Given the description of an element on the screen output the (x, y) to click on. 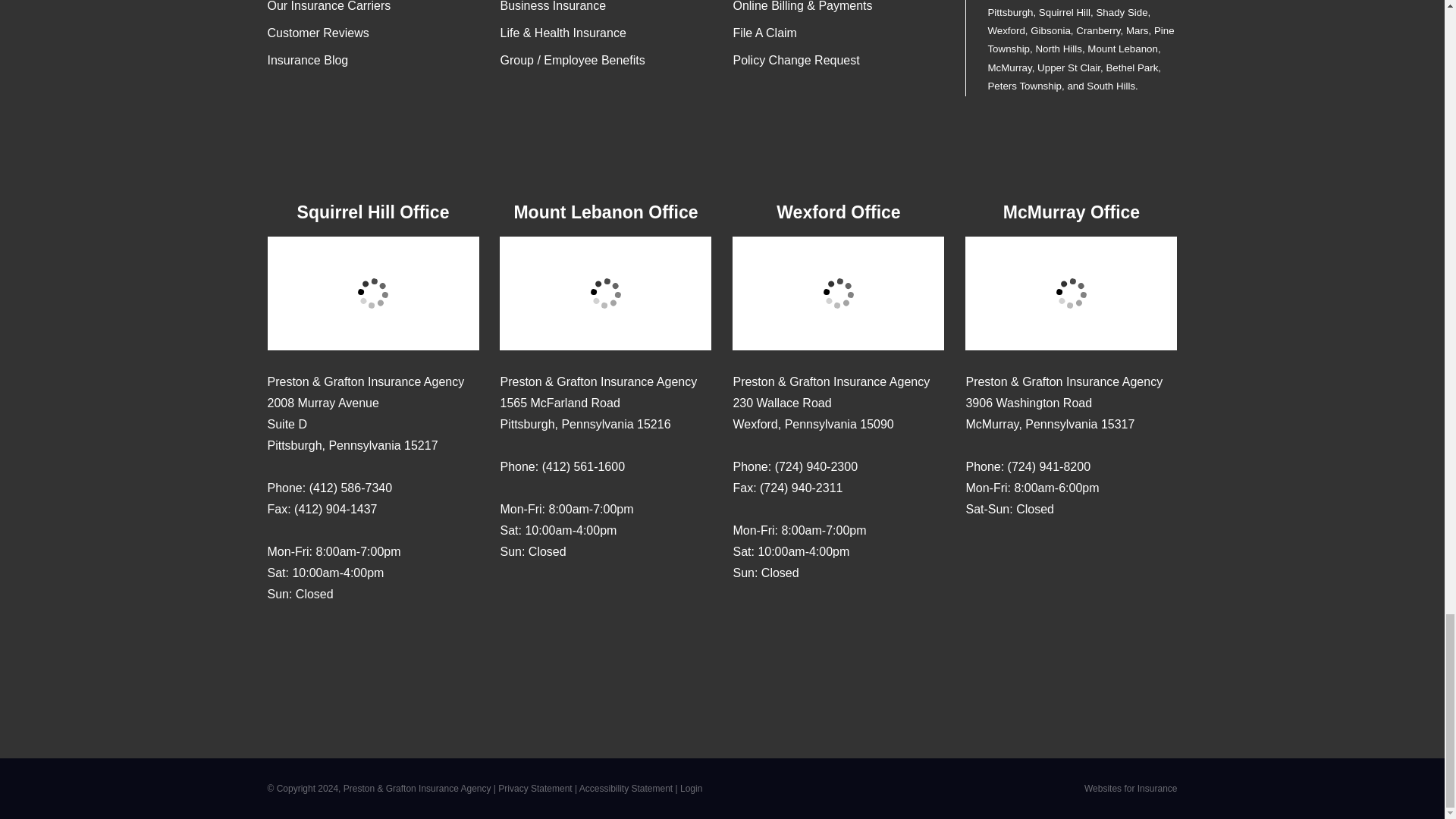
Google Maps (977, 554)
Yelp (541, 596)
Facebook (338, 639)
Yelp (773, 617)
Google Maps (511, 596)
LinkedIn (397, 639)
Google Maps (744, 617)
Facebook (1006, 554)
Yelp (309, 639)
Google Maps (278, 639)
PG White Retina (721, 157)
X (368, 639)
